Given the description of an element on the screen output the (x, y) to click on. 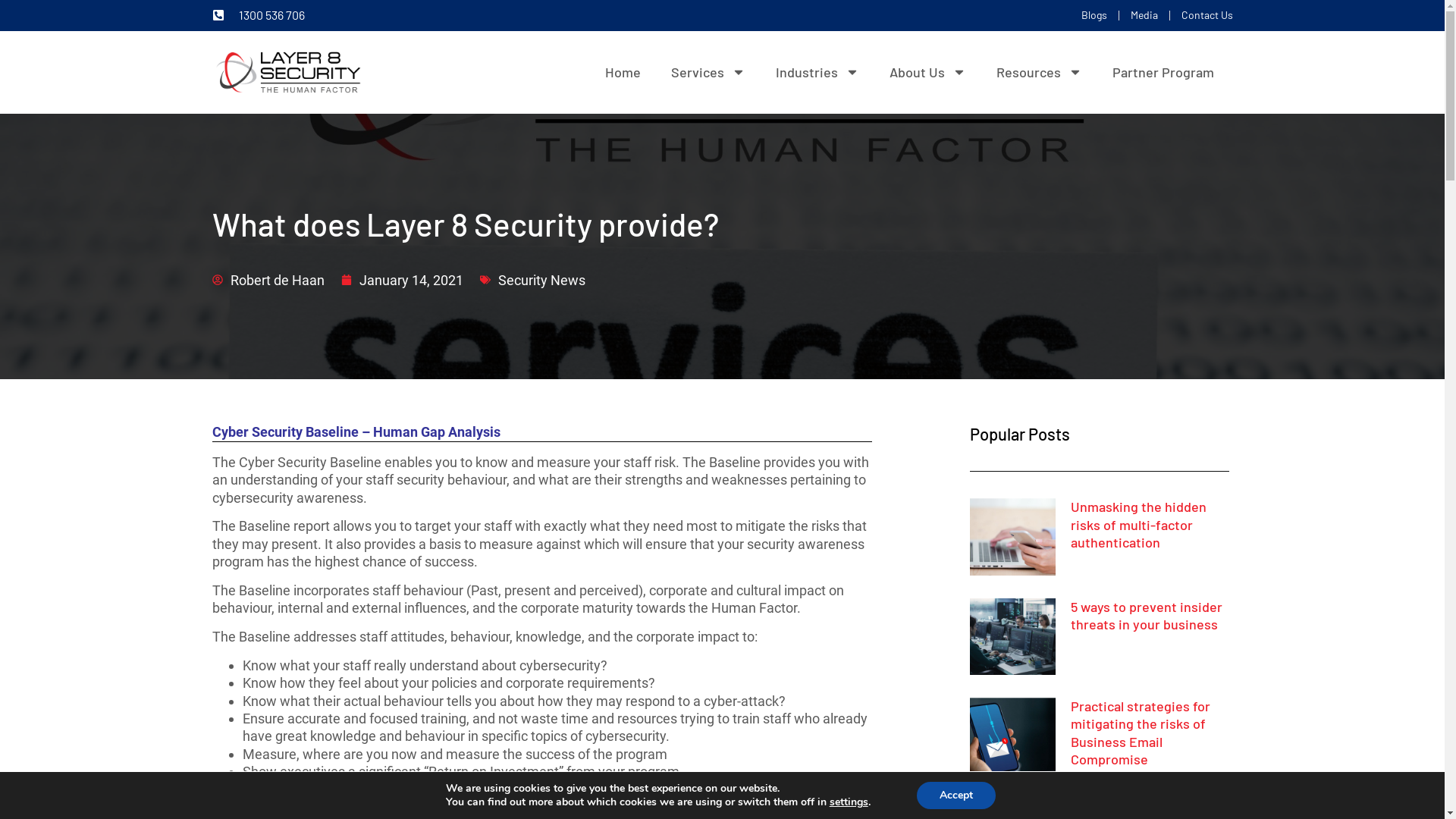
Unmasking the hidden risks of multi-factor authentication Element type: text (1138, 524)
Accept Element type: text (955, 795)
Partner Program Element type: text (1163, 71)
Blogs Element type: text (1094, 14)
Industries Element type: text (817, 71)
Media Element type: text (1143, 14)
Contact Us Element type: text (1207, 14)
Robert de Haan Element type: text (268, 279)
About Us Element type: text (927, 71)
Services Element type: text (707, 71)
Home Element type: text (622, 71)
January 14, 2021 Element type: text (402, 279)
Resources Element type: text (1039, 71)
5 ways to prevent insider threats in your business Element type: text (1146, 615)
1300 536 706 Element type: text (258, 15)
settings Element type: text (848, 802)
Security News Element type: text (540, 280)
